Given the description of an element on the screen output the (x, y) to click on. 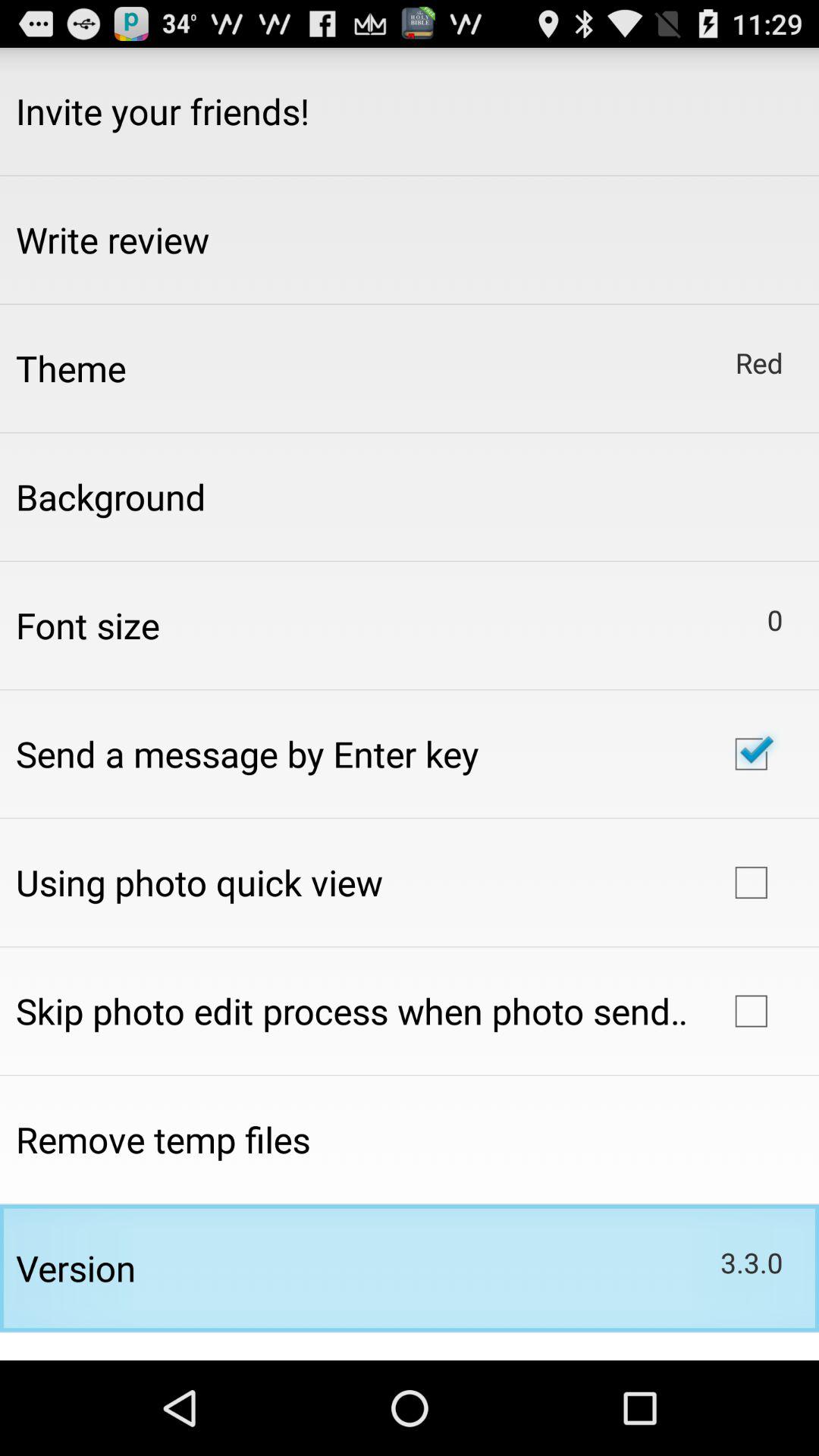
scroll until invite your friends! app (162, 111)
